Given the description of an element on the screen output the (x, y) to click on. 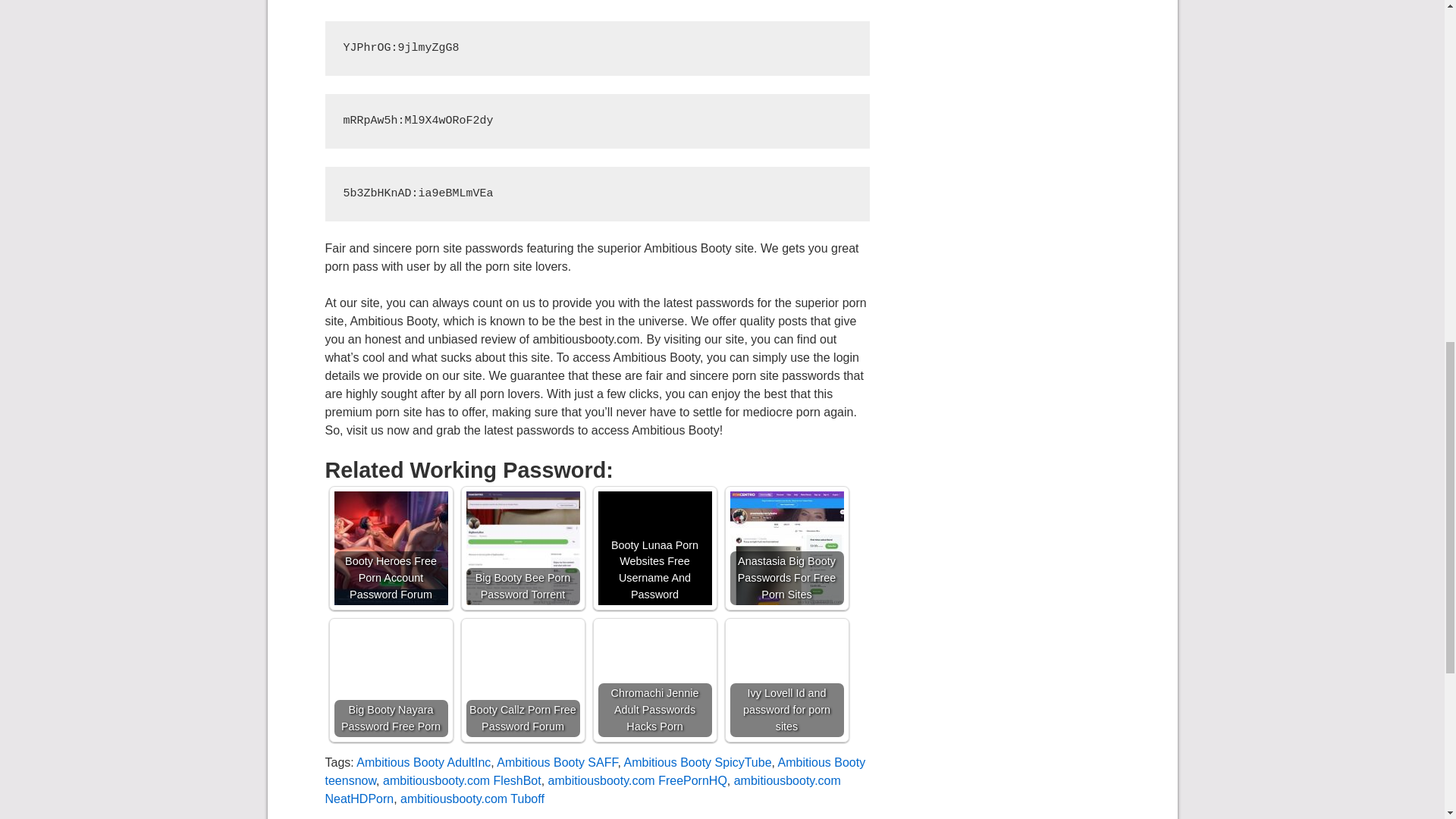
ambitiousbooty.com FreePornHQ (637, 780)
Ambitious Booty teensnow (594, 771)
Ambitious Booty SAFF (556, 762)
Booty Callz Porn Free Password Forum (522, 680)
ambitiousbooty.com NeatHDPorn (582, 789)
Ambitious Booty SpicyTube (697, 762)
Anastasia Big Booty Passwords For Free Porn Sites (786, 548)
Booty Lunaa Porn Websites Free Username And Password (653, 548)
Big Booty Bee Porn Password Torrent (522, 548)
Chromachi Jennie Adult Passwords Hacks Porn (653, 680)
